Given the description of an element on the screen output the (x, y) to click on. 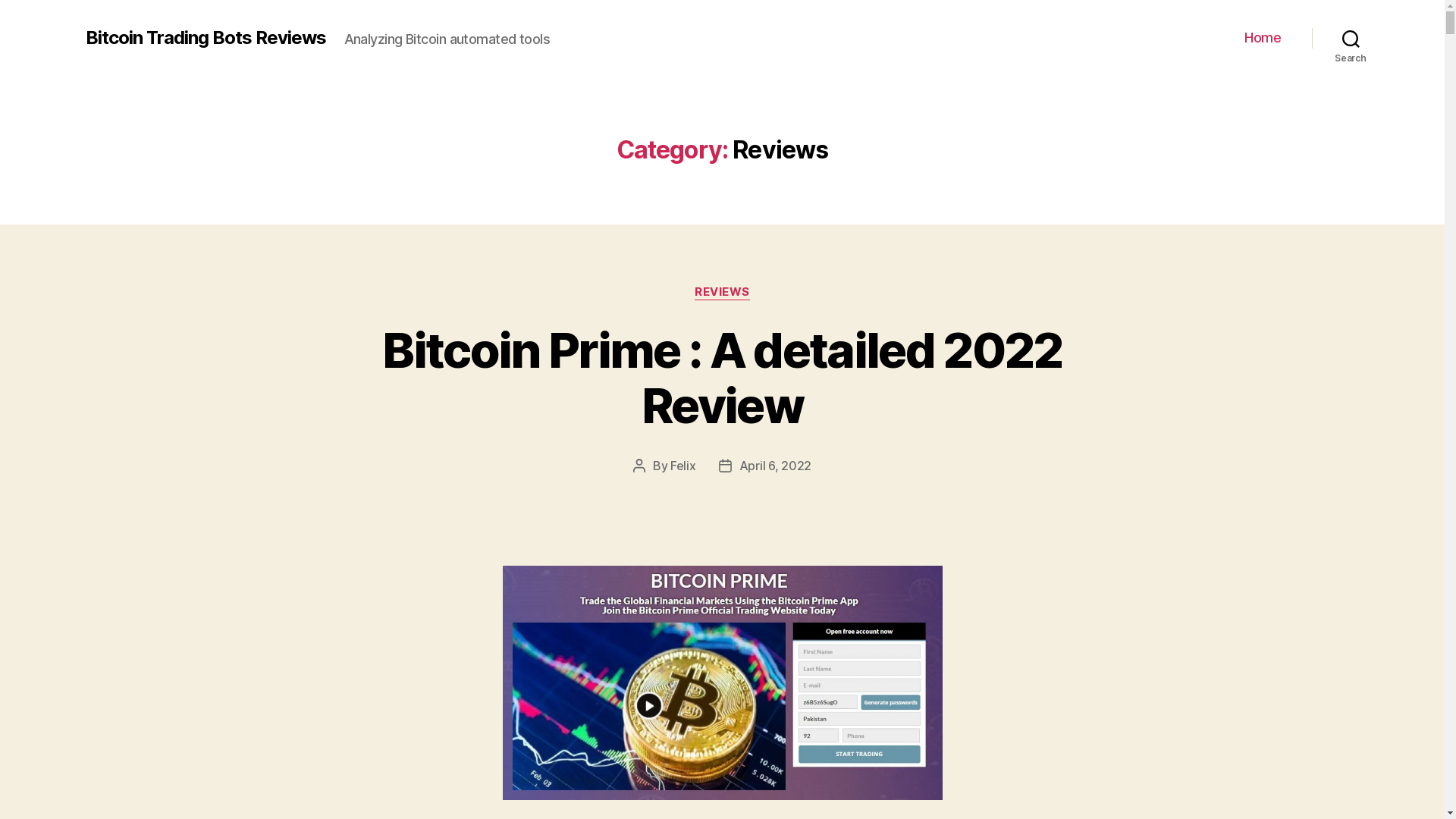
Search Element type: text (1350, 37)
April 6, 2022 Element type: text (775, 465)
Bitcoin Prime : A detailed 2022 Review Element type: text (722, 377)
Felix Element type: text (683, 465)
REVIEWS Element type: text (721, 292)
Home Element type: text (1262, 37)
Bitcoin Trading Bots Reviews Element type: text (204, 37)
